Given the description of an element on the screen output the (x, y) to click on. 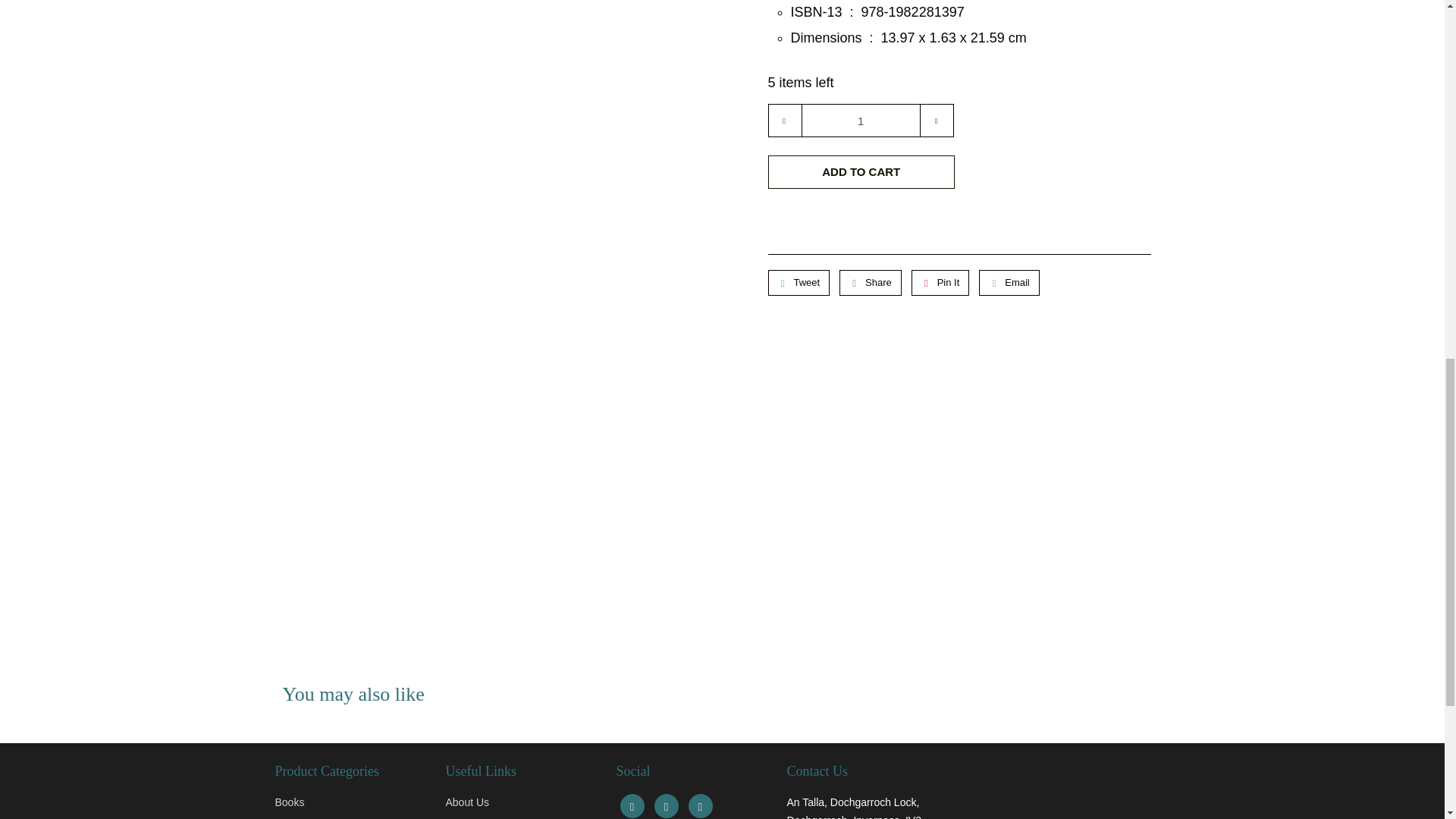
Share this on Twitter (798, 282)
Share this on Pinterest (940, 282)
An Talla Store on Facebook (632, 805)
Email this to a friend (1008, 282)
Share this on Facebook (870, 282)
1 (860, 120)
An Talla Store on Instagram (700, 805)
An Talla Store on Pinterest (665, 805)
